Given the description of an element on the screen output the (x, y) to click on. 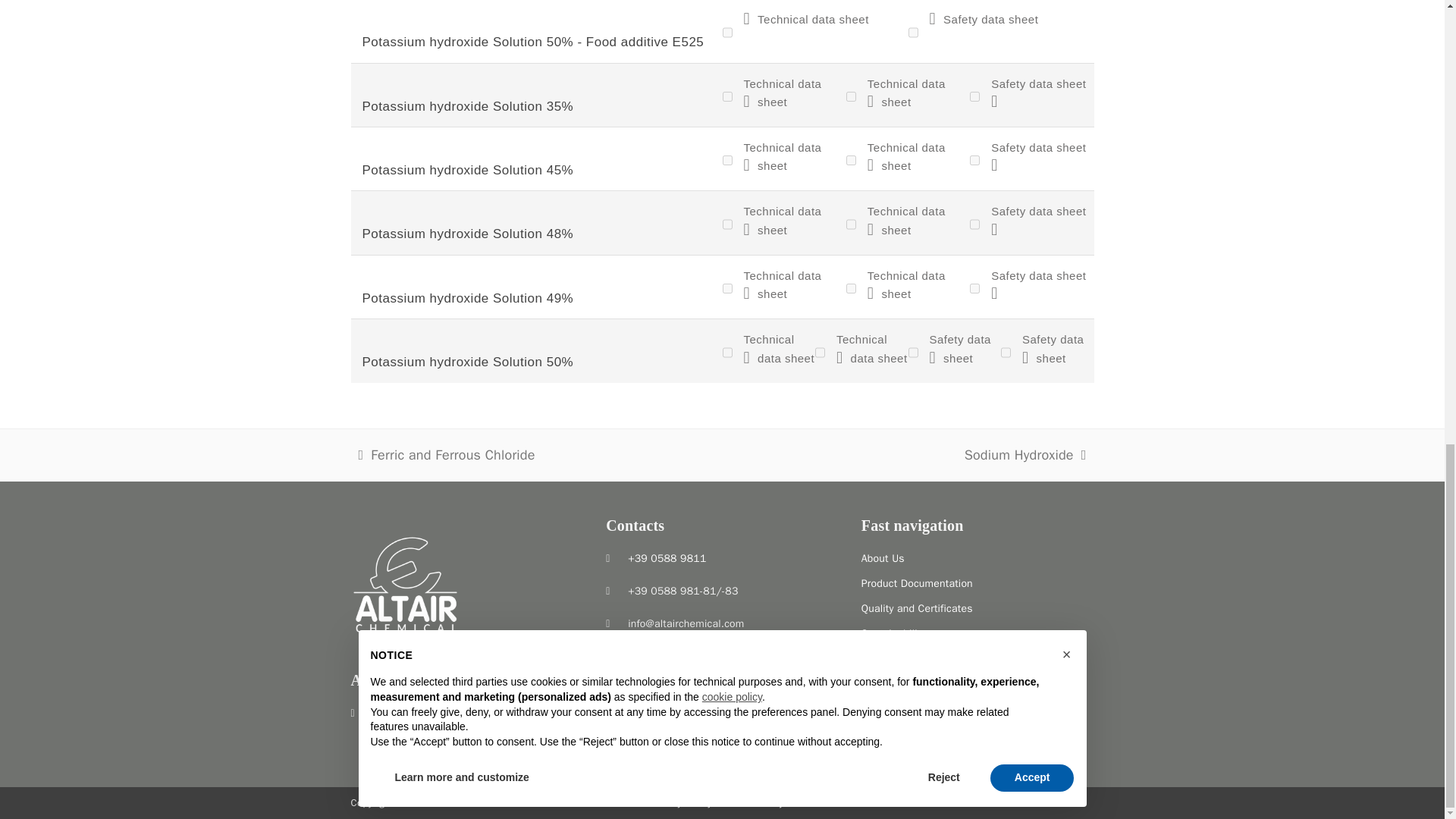
SP-03-C1 KOH E (793, 158)
Safety data sheet (984, 30)
on (727, 223)
SDS-01 EN KOH 40-51 (984, 30)
on (974, 96)
Technical data sheet (804, 30)
SDS-16 EN KOH 30-40 (1042, 95)
on (850, 160)
on (727, 32)
on (727, 160)
on (850, 96)
on (913, 32)
on (974, 160)
SP-03-E3 KOH 50 Rev.01 by 04.01.2024 (804, 30)
on (974, 223)
